Given the description of an element on the screen output the (x, y) to click on. 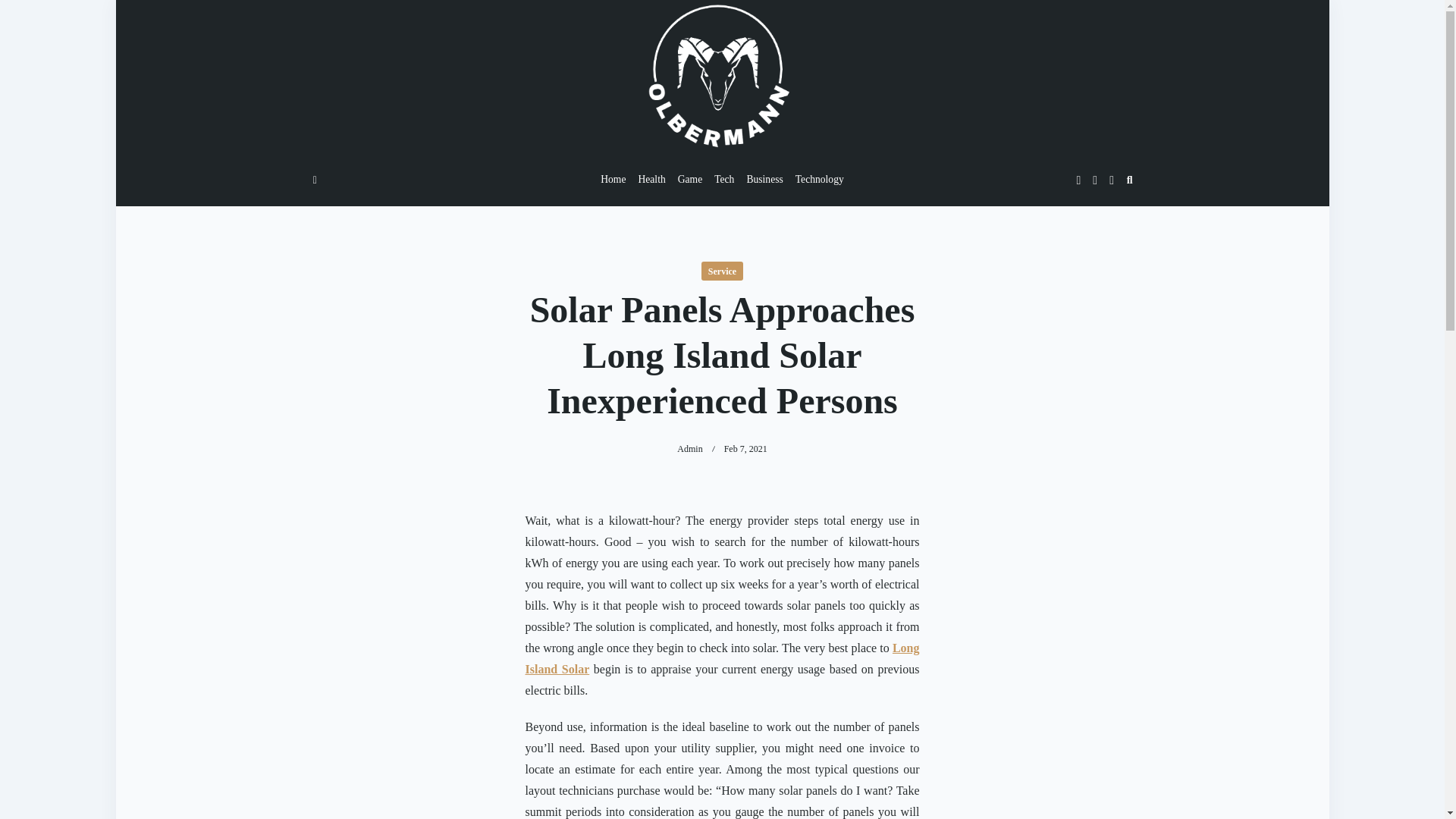
Business (764, 180)
Technology (819, 180)
